Given the description of an element on the screen output the (x, y) to click on. 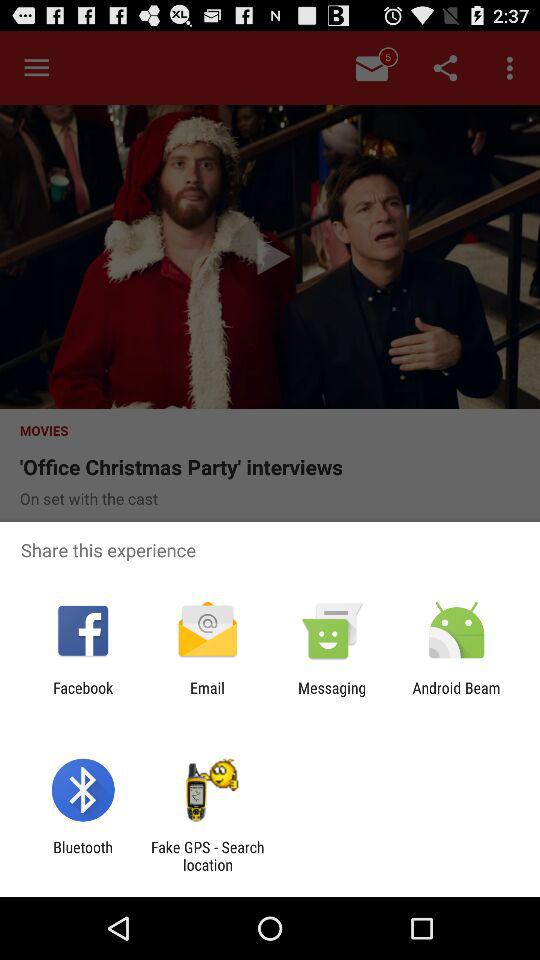
scroll to the messaging icon (332, 696)
